Given the description of an element on the screen output the (x, y) to click on. 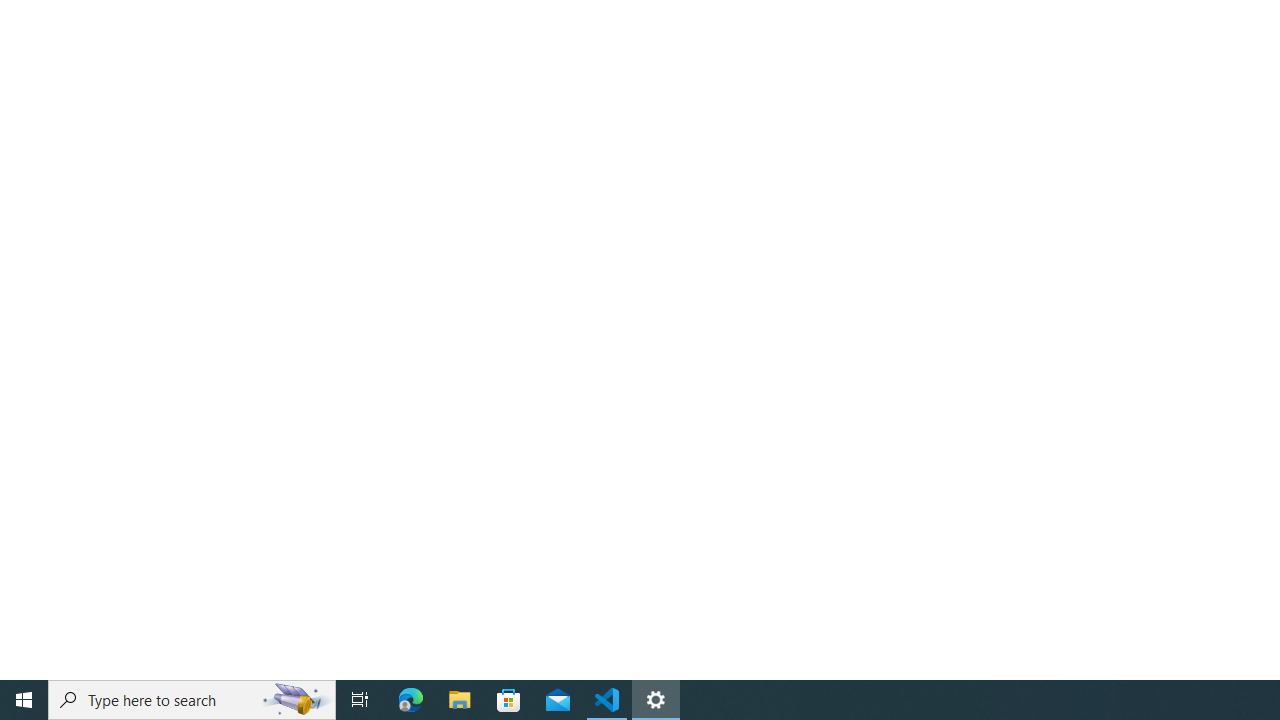
Microsoft Store (509, 699)
Type here to search (191, 699)
Visual Studio Code - 1 running window (607, 699)
Task View (359, 699)
Settings - 1 running window (656, 699)
Start (24, 699)
Search highlights icon opens search home window (295, 699)
File Explorer (460, 699)
Microsoft Edge (411, 699)
